Given the description of an element on the screen output the (x, y) to click on. 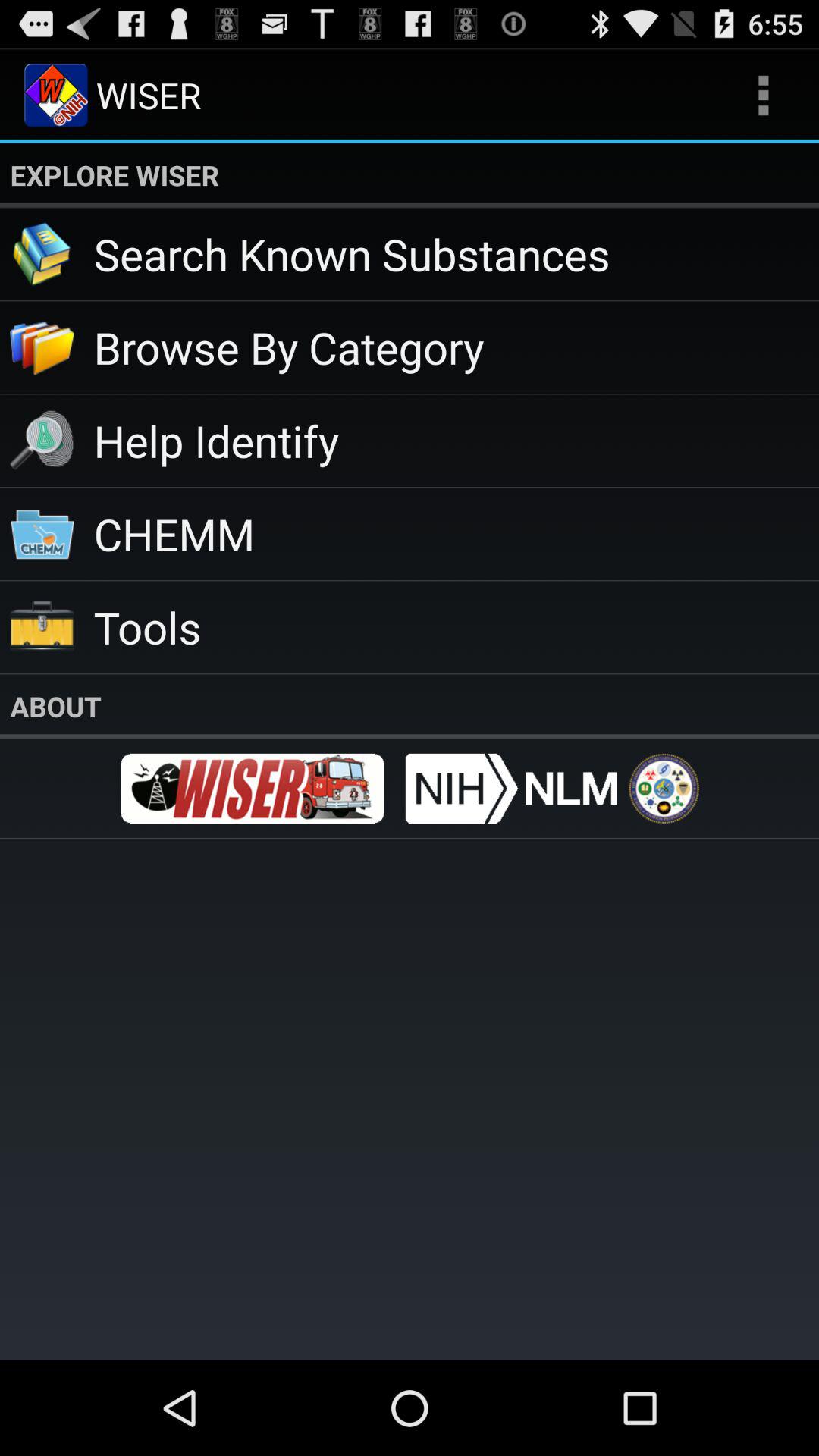
select the item below the explore wiser (456, 253)
